Given the description of an element on the screen output the (x, y) to click on. 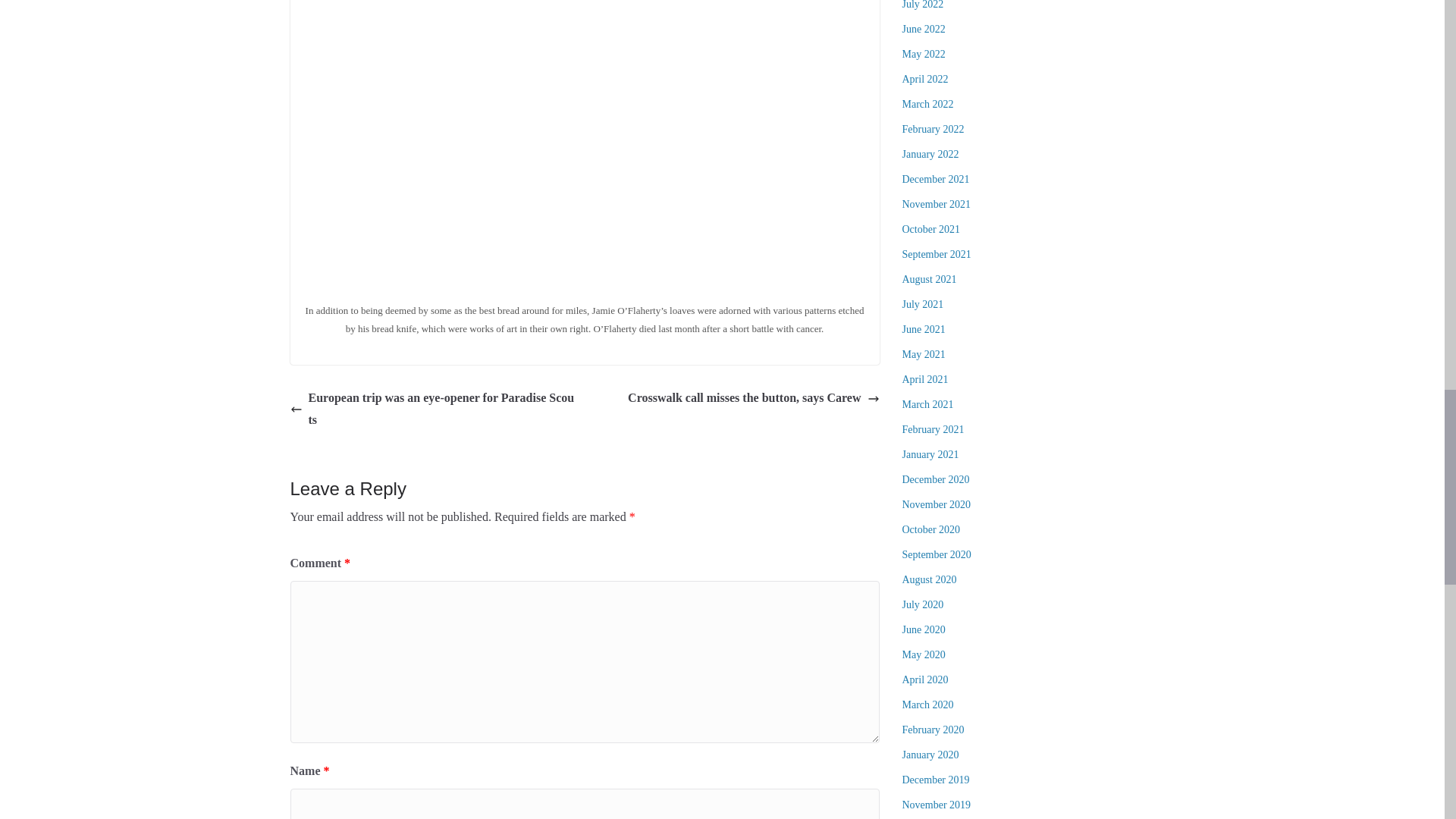
Crosswalk call misses the button, says Carew (753, 398)
European trip was an eye-opener for Paradise Scouts (432, 409)
